Given the description of an element on the screen output the (x, y) to click on. 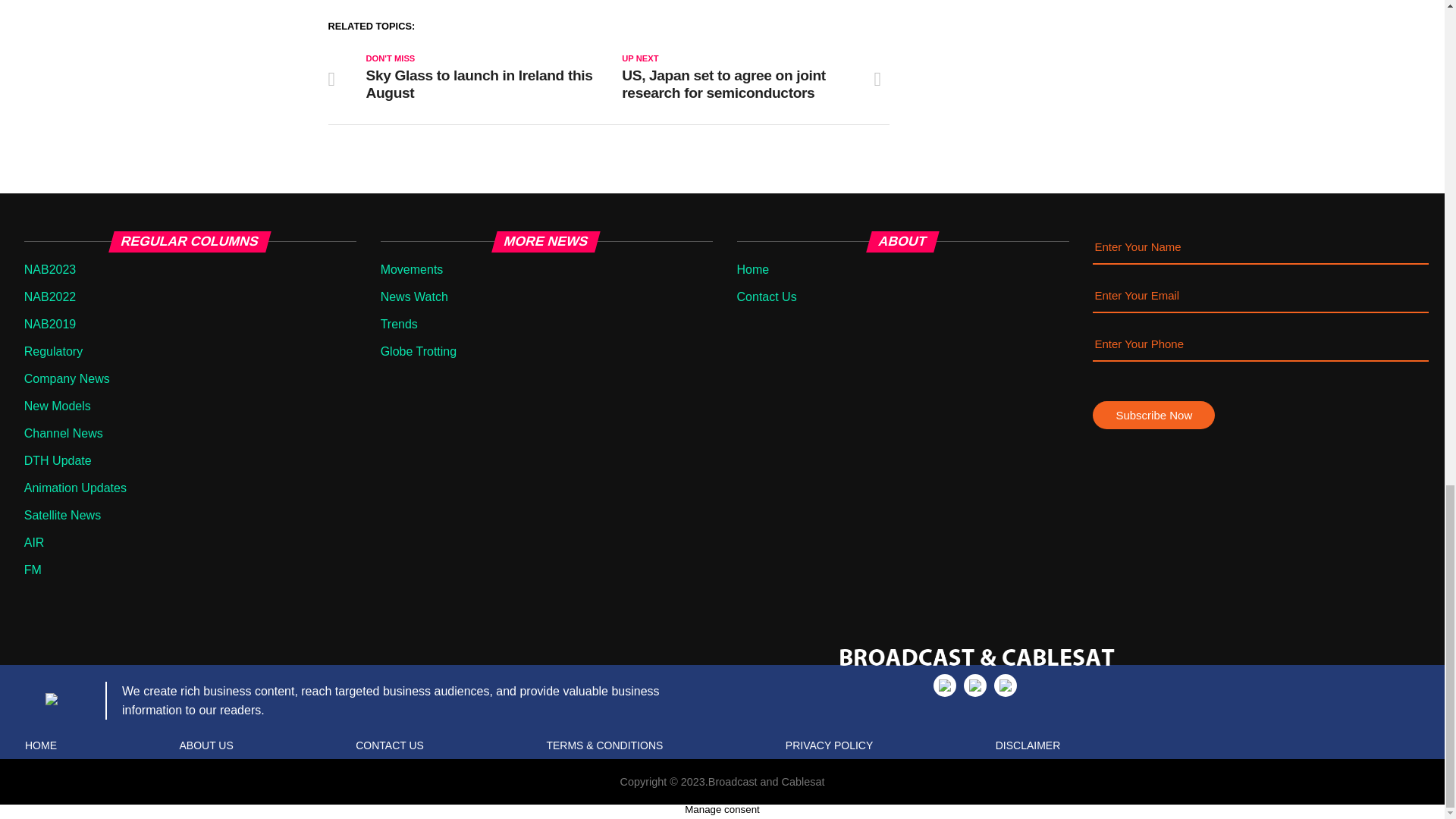
Subscribe Now (1153, 415)
